Given the description of an element on the screen output the (x, y) to click on. 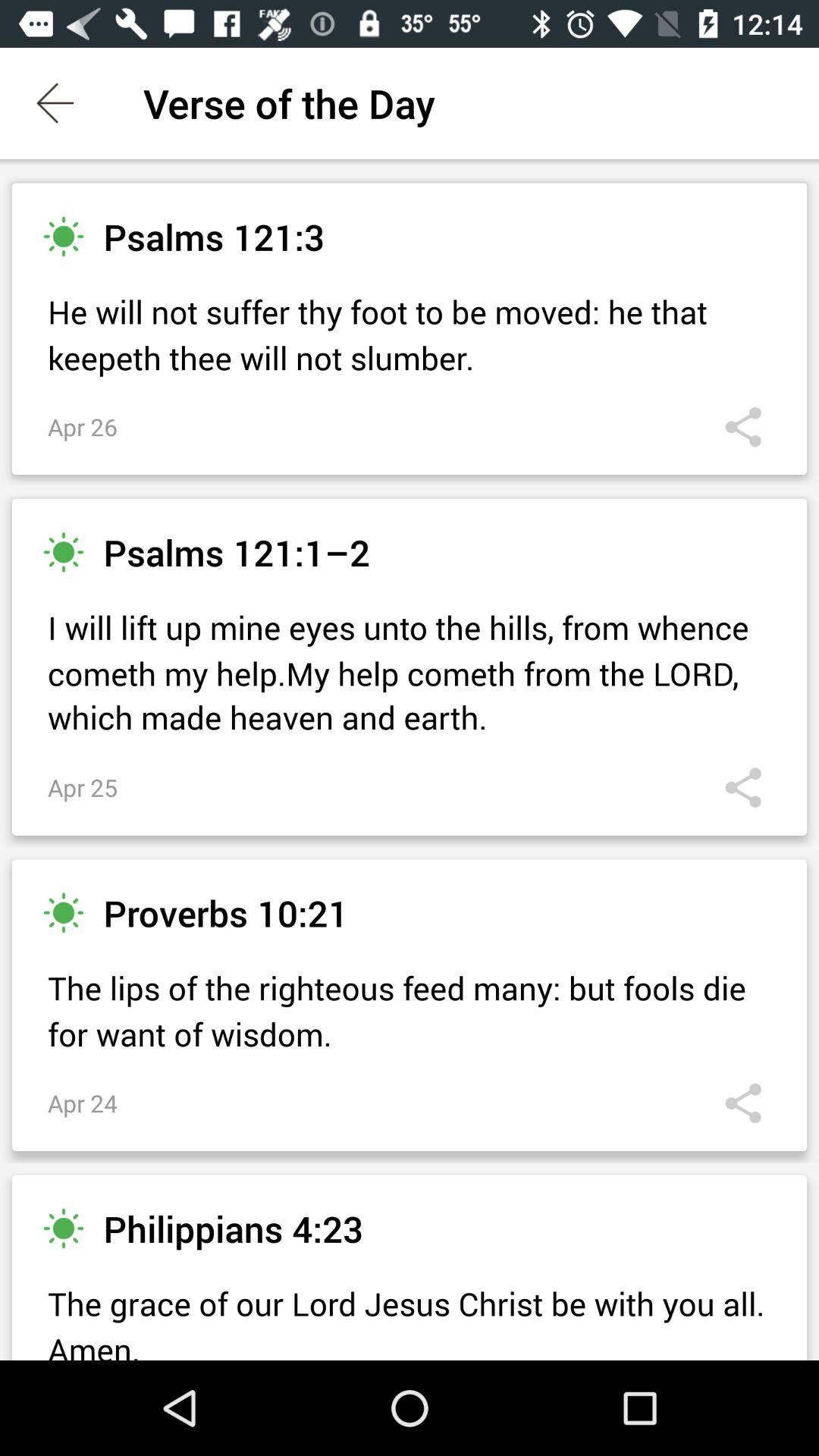
go back (55, 103)
